Given the description of an element on the screen output the (x, y) to click on. 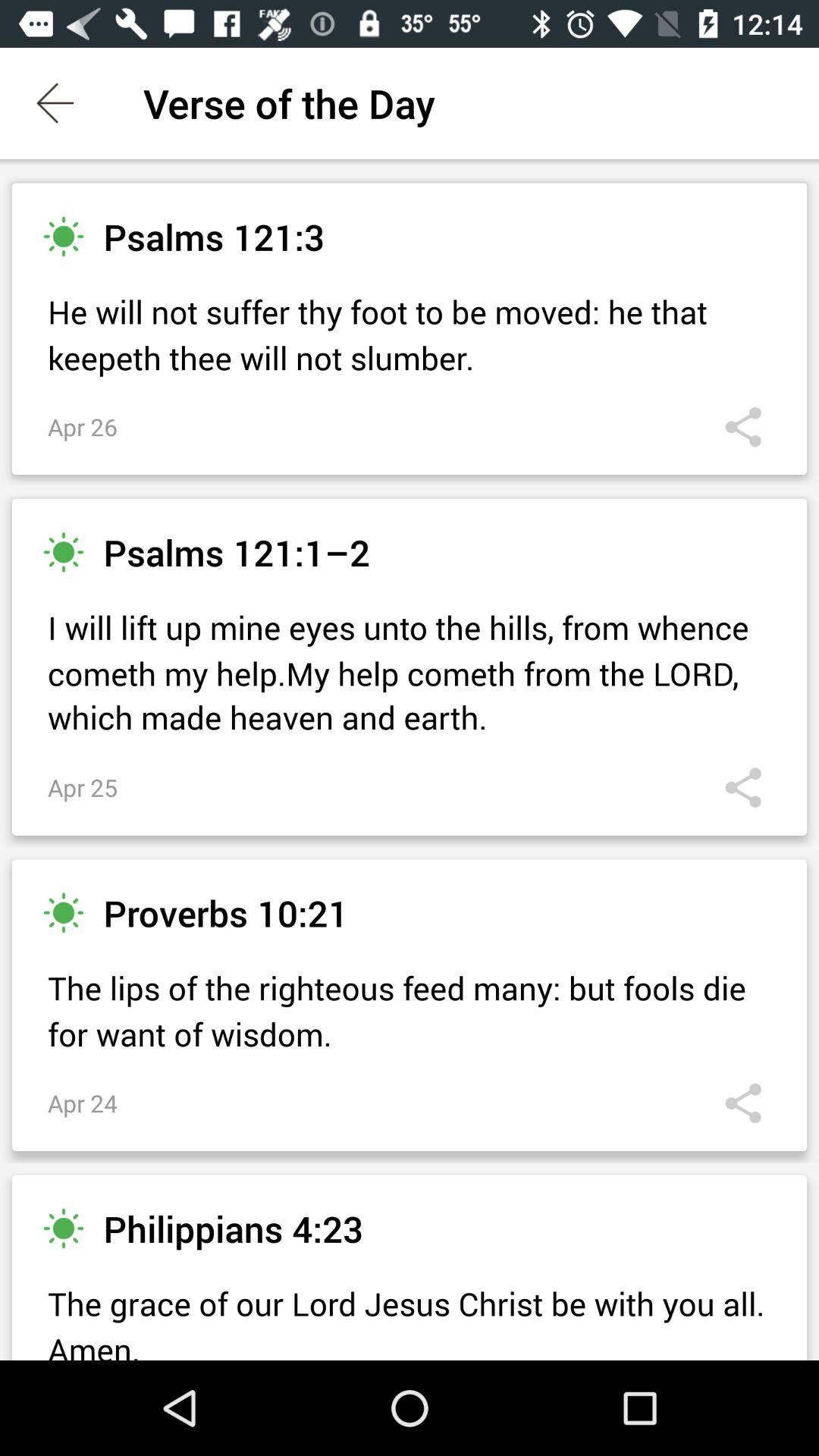
go back (55, 103)
